Given the description of an element on the screen output the (x, y) to click on. 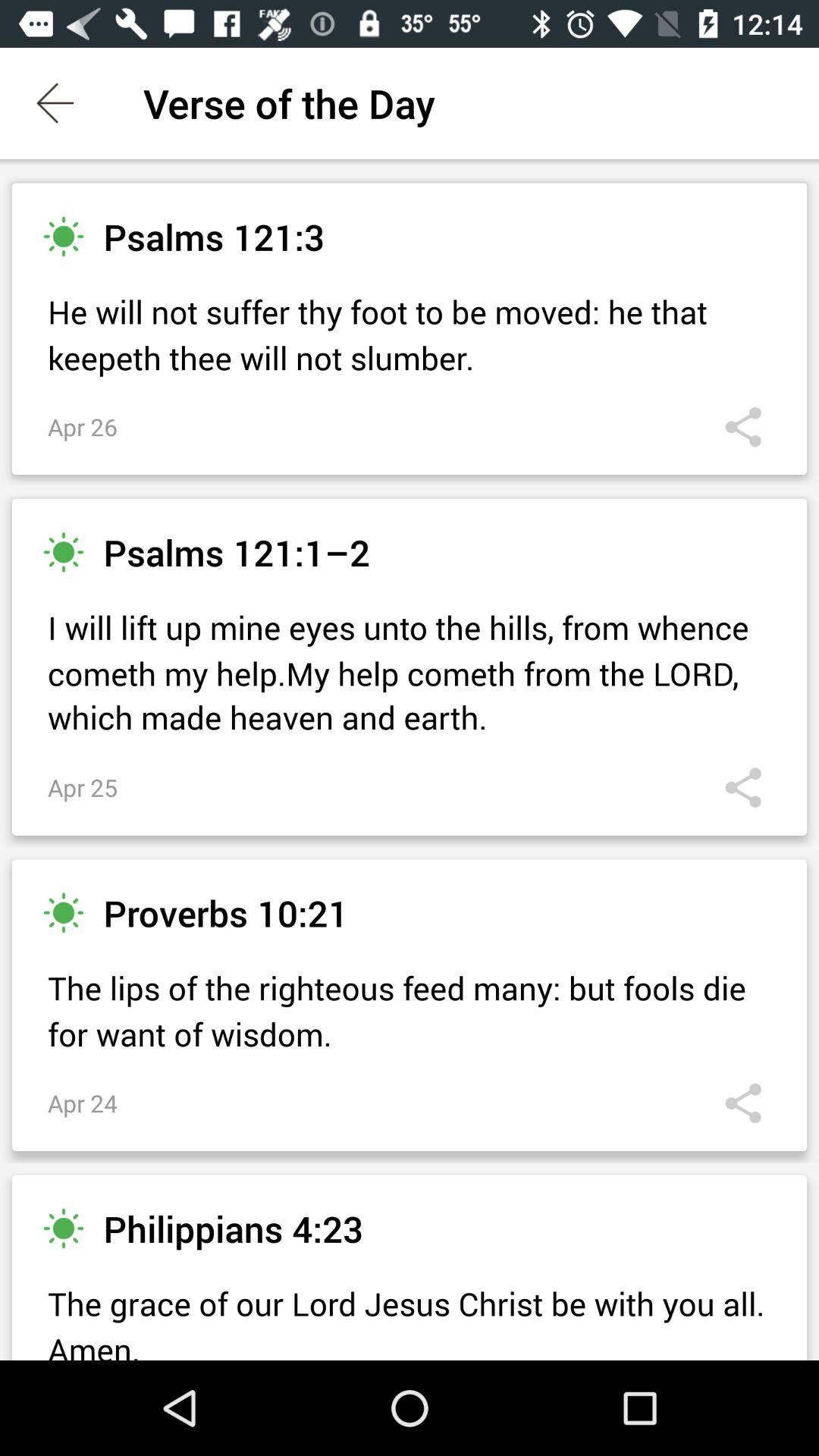
go back (55, 103)
